Given the description of an element on the screen output the (x, y) to click on. 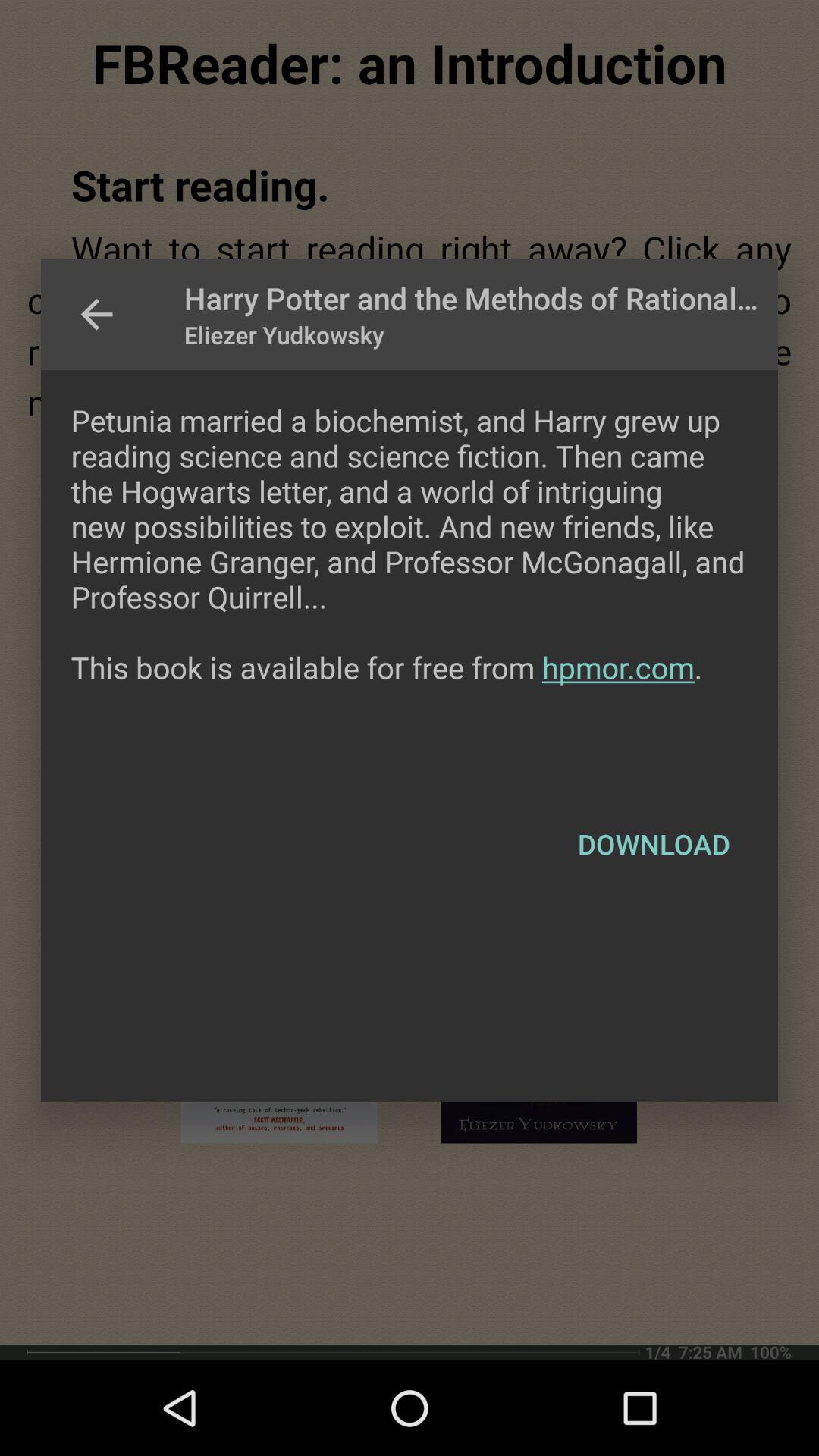
turn off the item to the left of the harry potter and icon (96, 314)
